Given the description of an element on the screen output the (x, y) to click on. 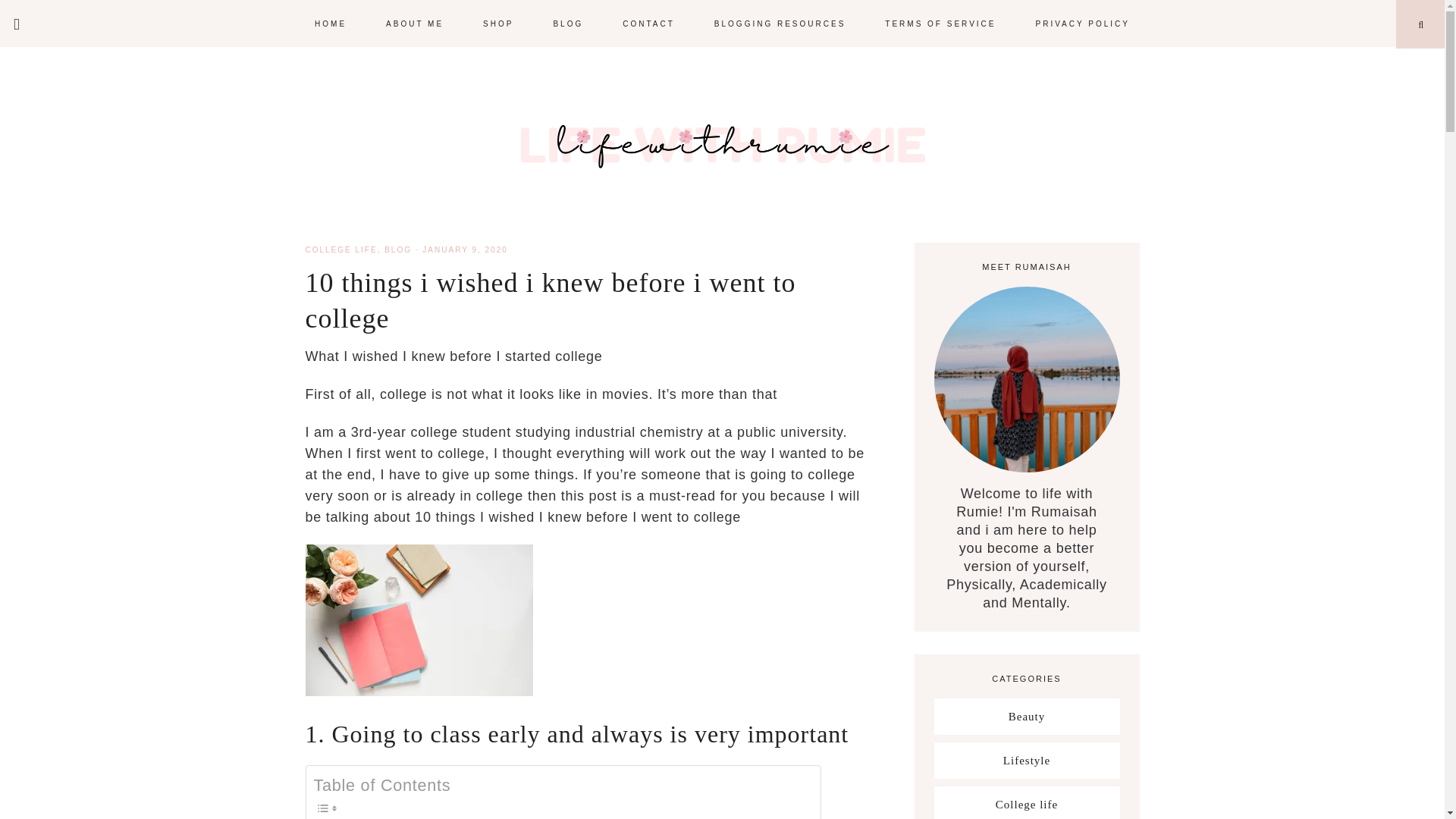
TERMS OF SERVICE (939, 22)
COLLEGE LIFE (340, 249)
BLOG (398, 249)
PRIVACY POLICY (1081, 22)
BLOG (567, 22)
HOME (330, 22)
BLOGGING RESOURCES (779, 22)
ABOUT ME (414, 22)
LIFE WITH RUMIE (722, 143)
SHOP (497, 22)
CONTACT (648, 22)
